Given the description of an element on the screen output the (x, y) to click on. 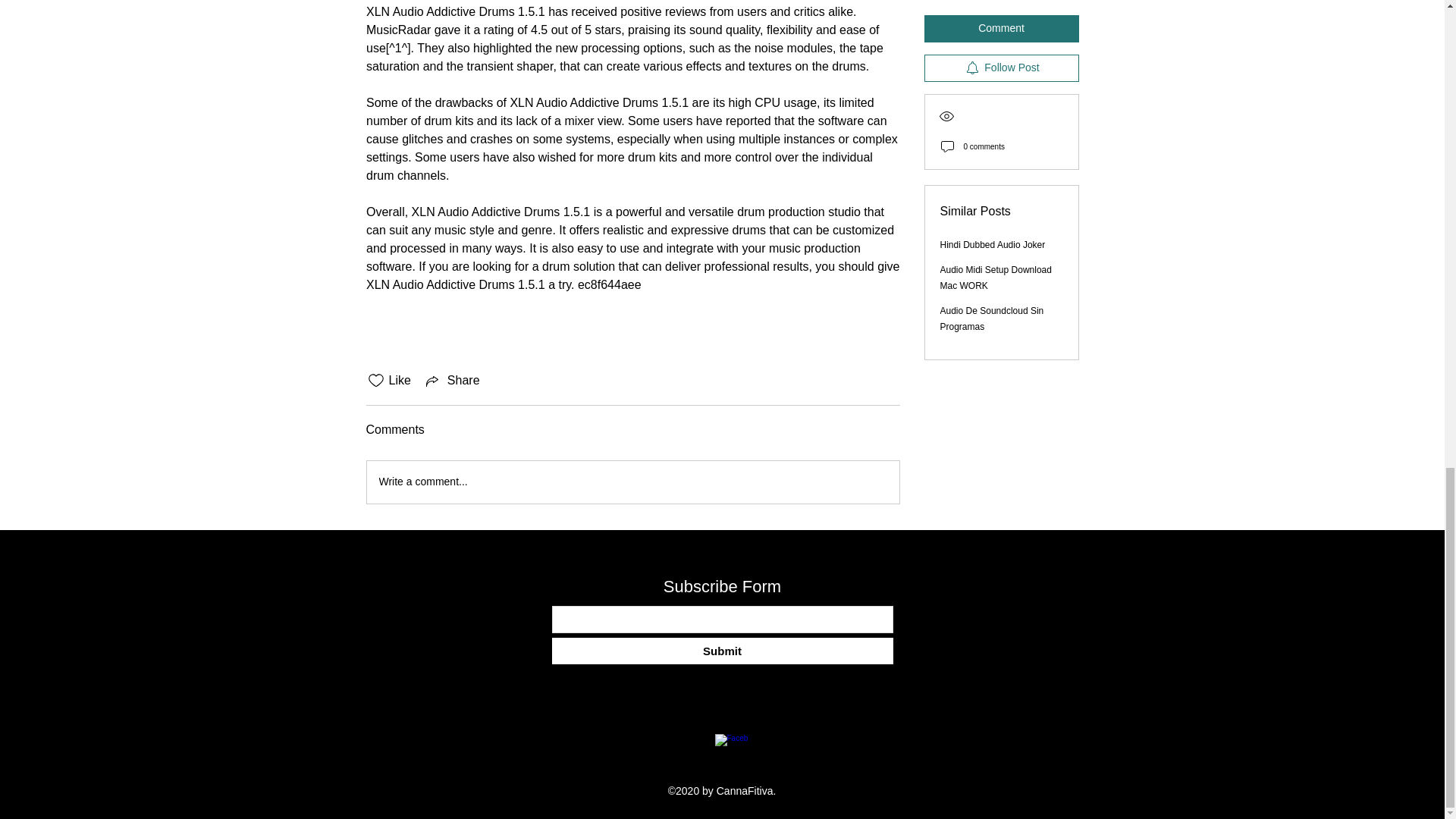
Share (451, 380)
Submit (722, 651)
Write a comment... (632, 482)
